Given the description of an element on the screen output the (x, y) to click on. 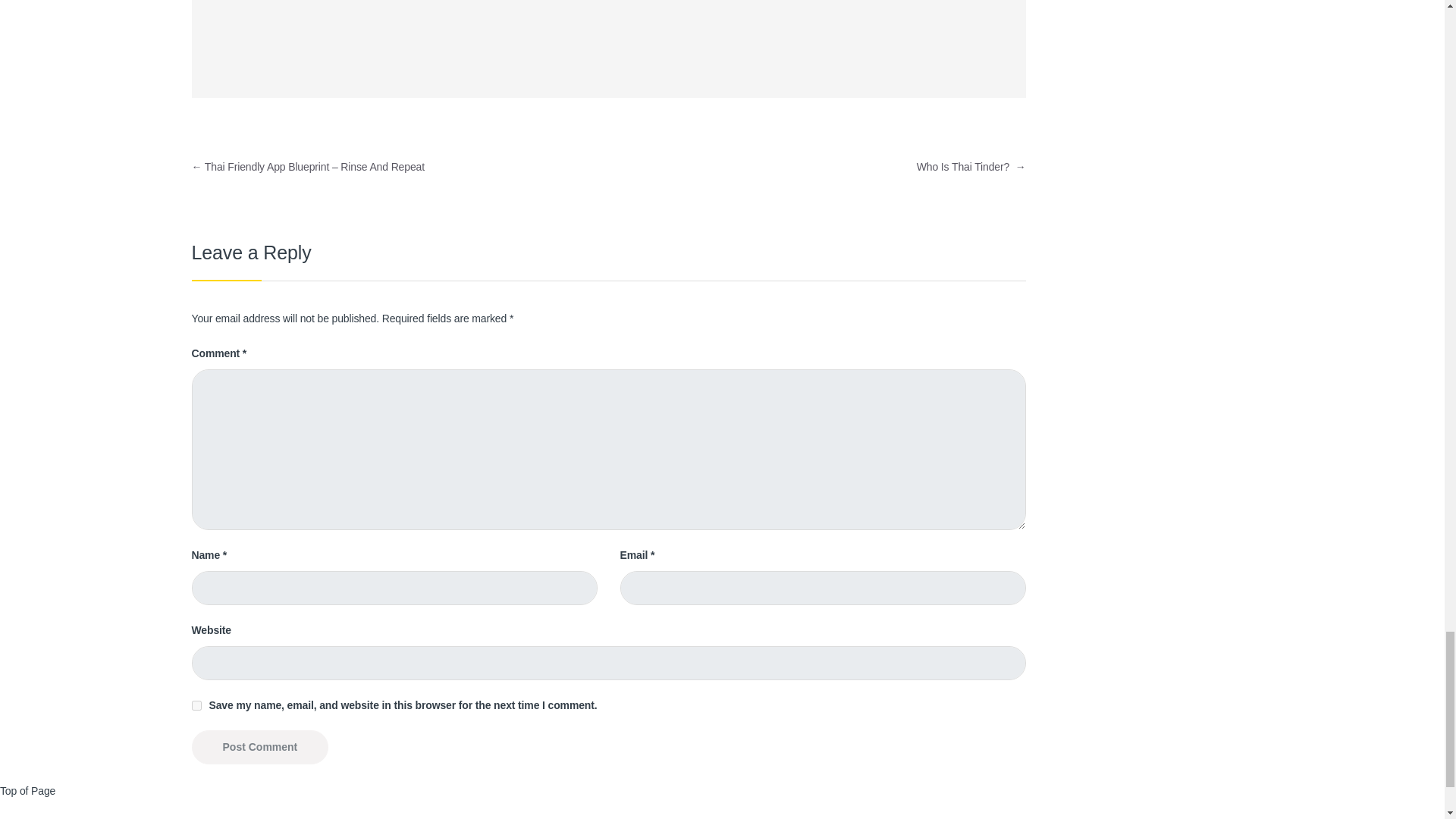
Post Comment (259, 747)
yes (195, 705)
Post Comment (259, 747)
